Given the description of an element on the screen output the (x, y) to click on. 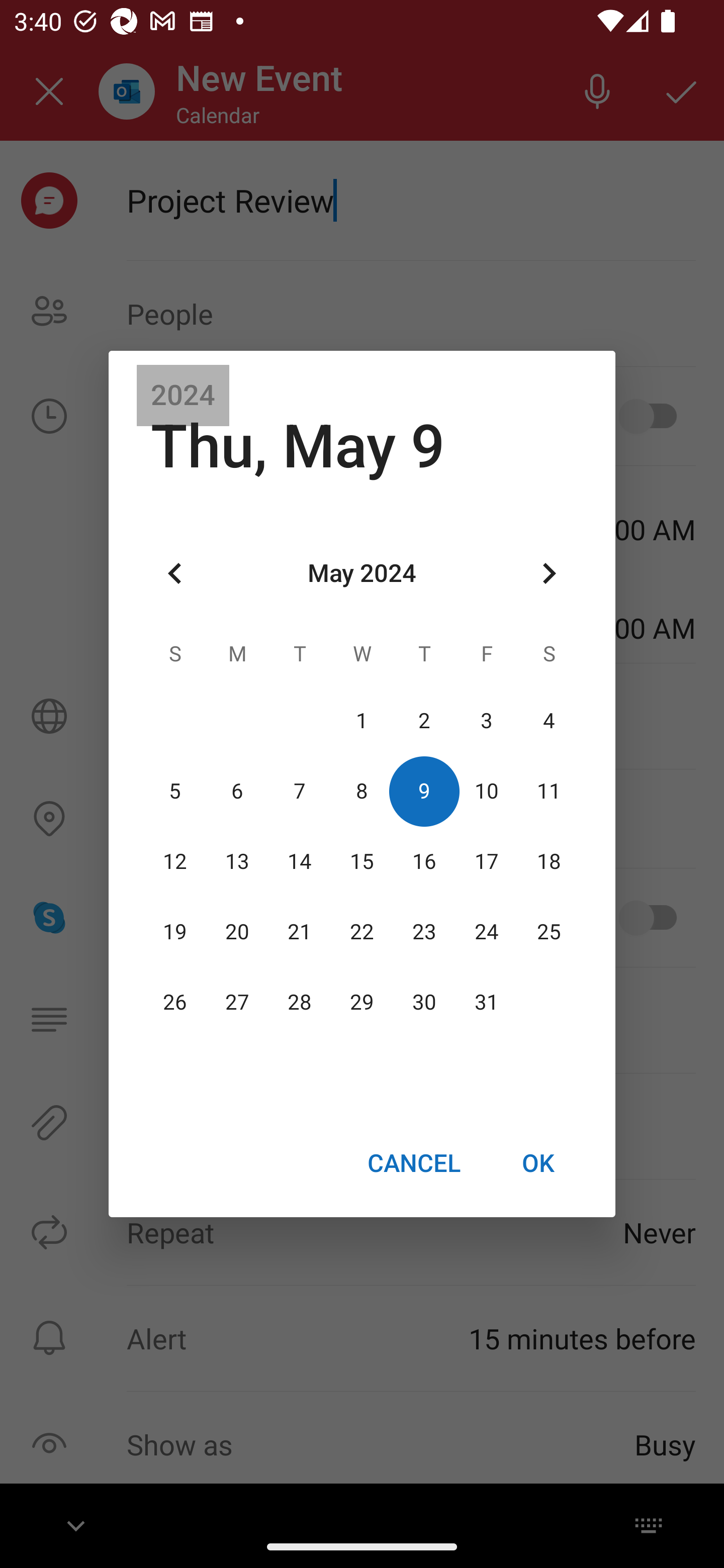
2024 (182, 395)
Thu, May 9 (297, 446)
Previous month (174, 573)
Next month (548, 573)
1 01 May 2024 (361, 720)
2 02 May 2024 (424, 720)
3 03 May 2024 (486, 720)
4 04 May 2024 (548, 720)
5 05 May 2024 (175, 790)
6 06 May 2024 (237, 790)
7 07 May 2024 (299, 790)
8 08 May 2024 (361, 790)
9 09 May 2024 (424, 790)
10 10 May 2024 (486, 790)
11 11 May 2024 (548, 790)
12 12 May 2024 (175, 861)
13 13 May 2024 (237, 861)
14 14 May 2024 (299, 861)
15 15 May 2024 (361, 861)
16 16 May 2024 (424, 861)
17 17 May 2024 (486, 861)
18 18 May 2024 (548, 861)
19 19 May 2024 (175, 931)
20 20 May 2024 (237, 931)
21 21 May 2024 (299, 931)
22 22 May 2024 (361, 931)
23 23 May 2024 (424, 931)
24 24 May 2024 (486, 931)
25 25 May 2024 (548, 931)
26 26 May 2024 (175, 1002)
27 27 May 2024 (237, 1002)
28 28 May 2024 (299, 1002)
29 29 May 2024 (361, 1002)
30 30 May 2024 (424, 1002)
31 31 May 2024 (486, 1002)
CANCEL (413, 1162)
OK (537, 1162)
